Given the description of an element on the screen output the (x, y) to click on. 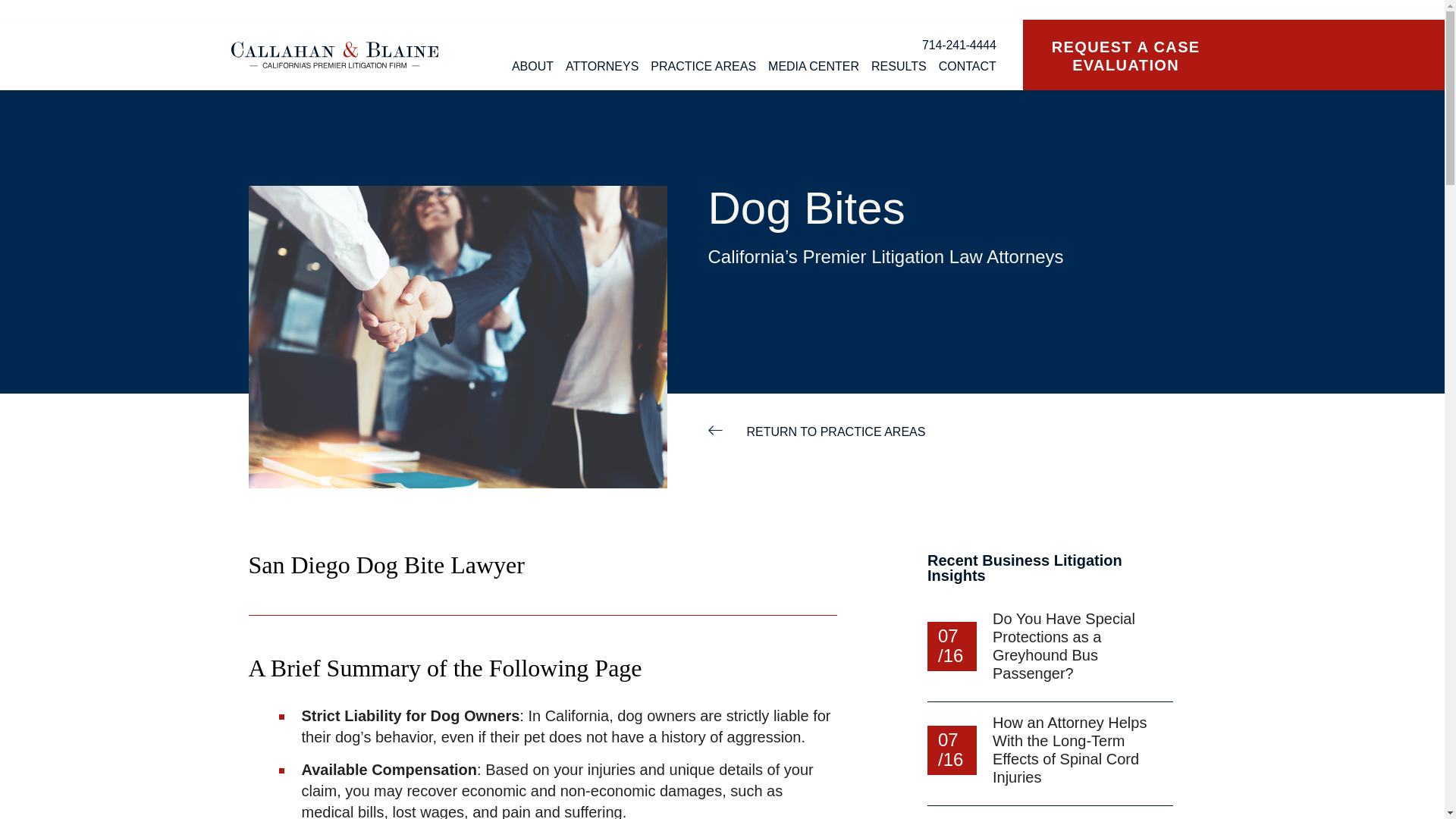
PRACTICE AREAS (702, 66)
ABOUT (532, 66)
RESULTS (898, 66)
MEDIA CENTER (813, 66)
714-241-4444 (735, 45)
CONTACT (967, 66)
ATTORNEYS (602, 66)
